Given the description of an element on the screen output the (x, y) to click on. 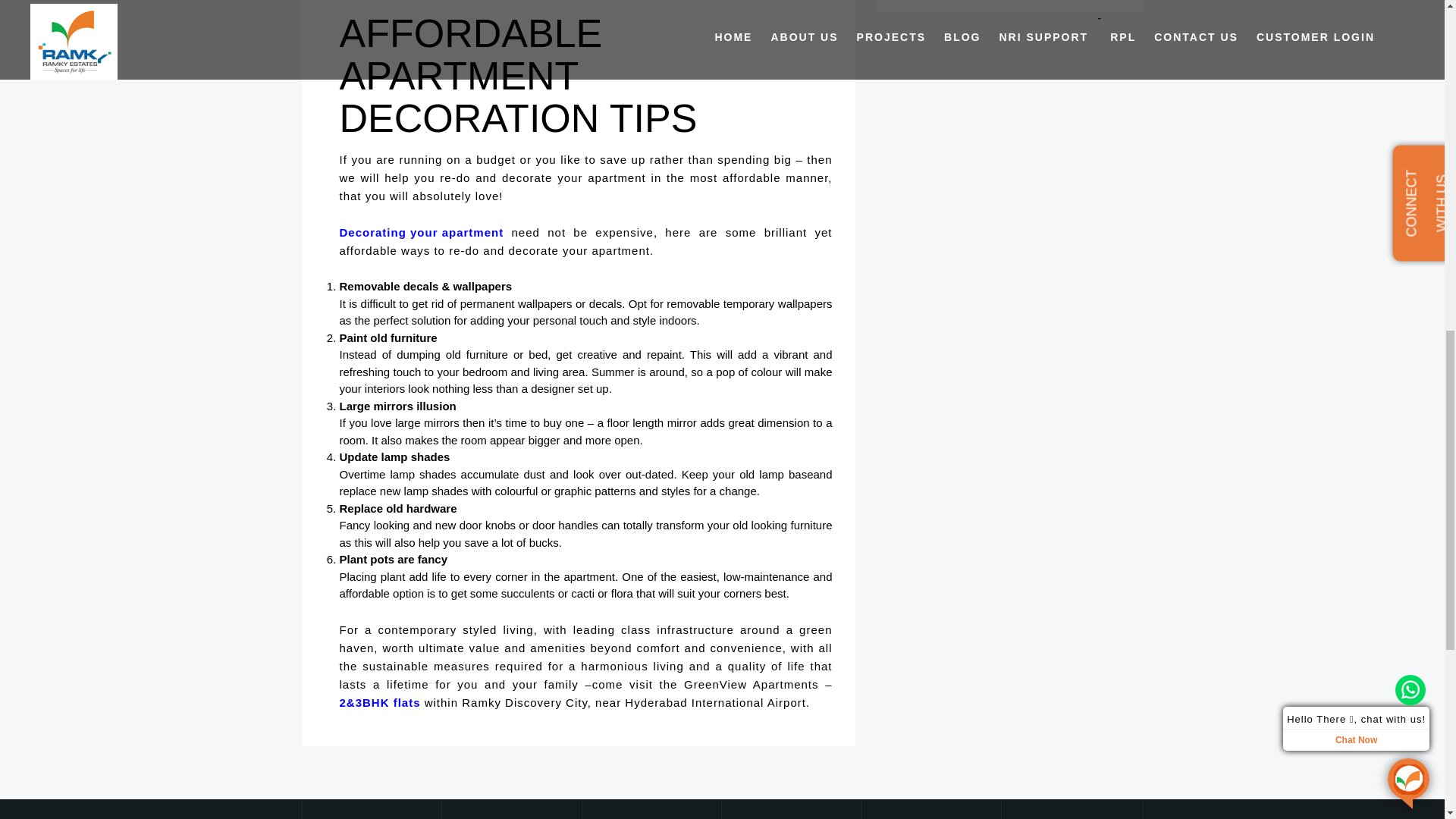
AFFORDABLE APARTMENT DECORATION TIPS (518, 75)
Decorating your apartment (421, 232)
